Given the description of an element on the screen output the (x, y) to click on. 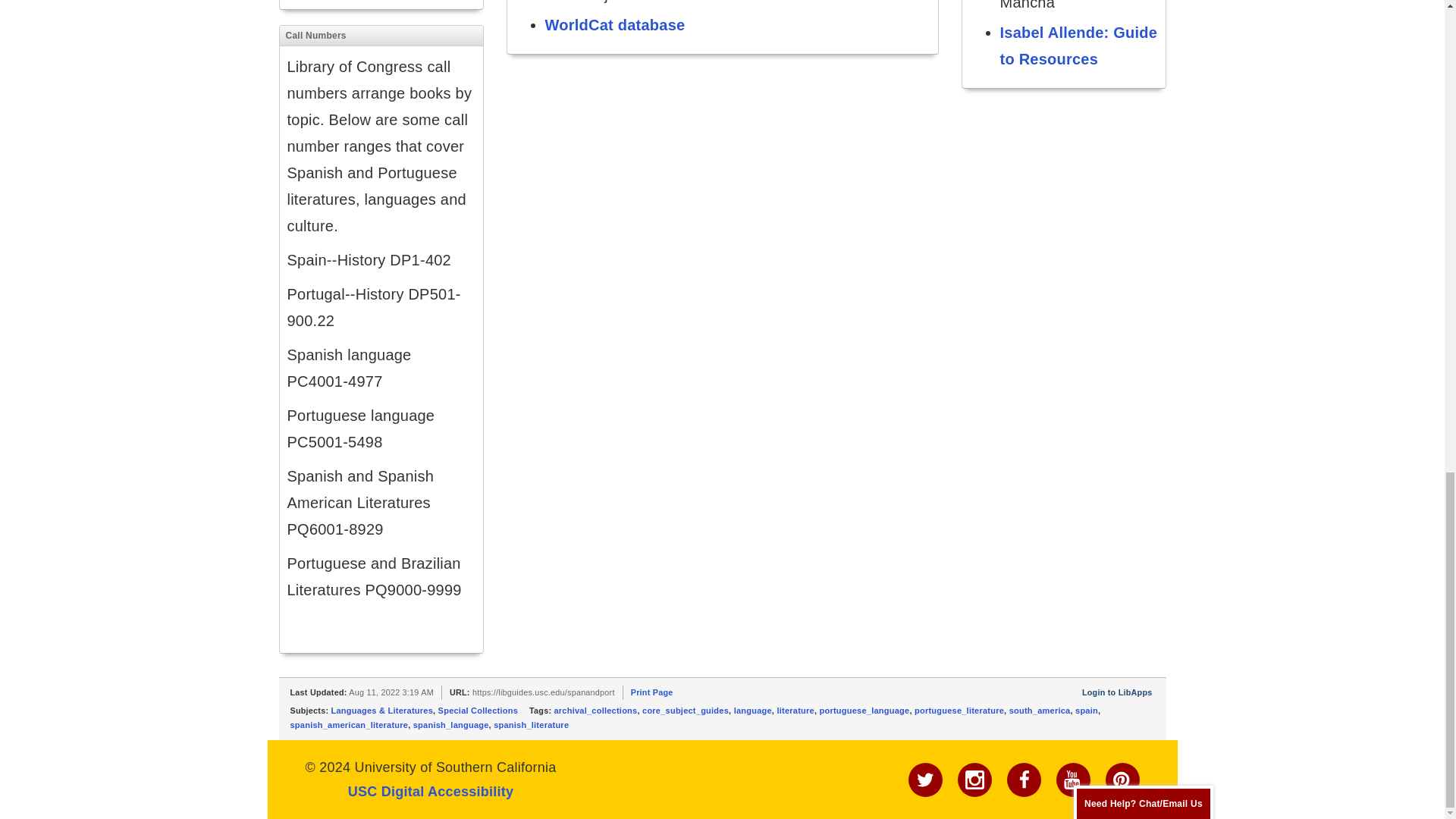
Login to LibApps (1117, 691)
Special Collections (478, 709)
WorldCat database (614, 24)
Isabel Allende: Guide to Resources (1077, 45)
Print Page (651, 691)
